Given the description of an element on the screen output the (x, y) to click on. 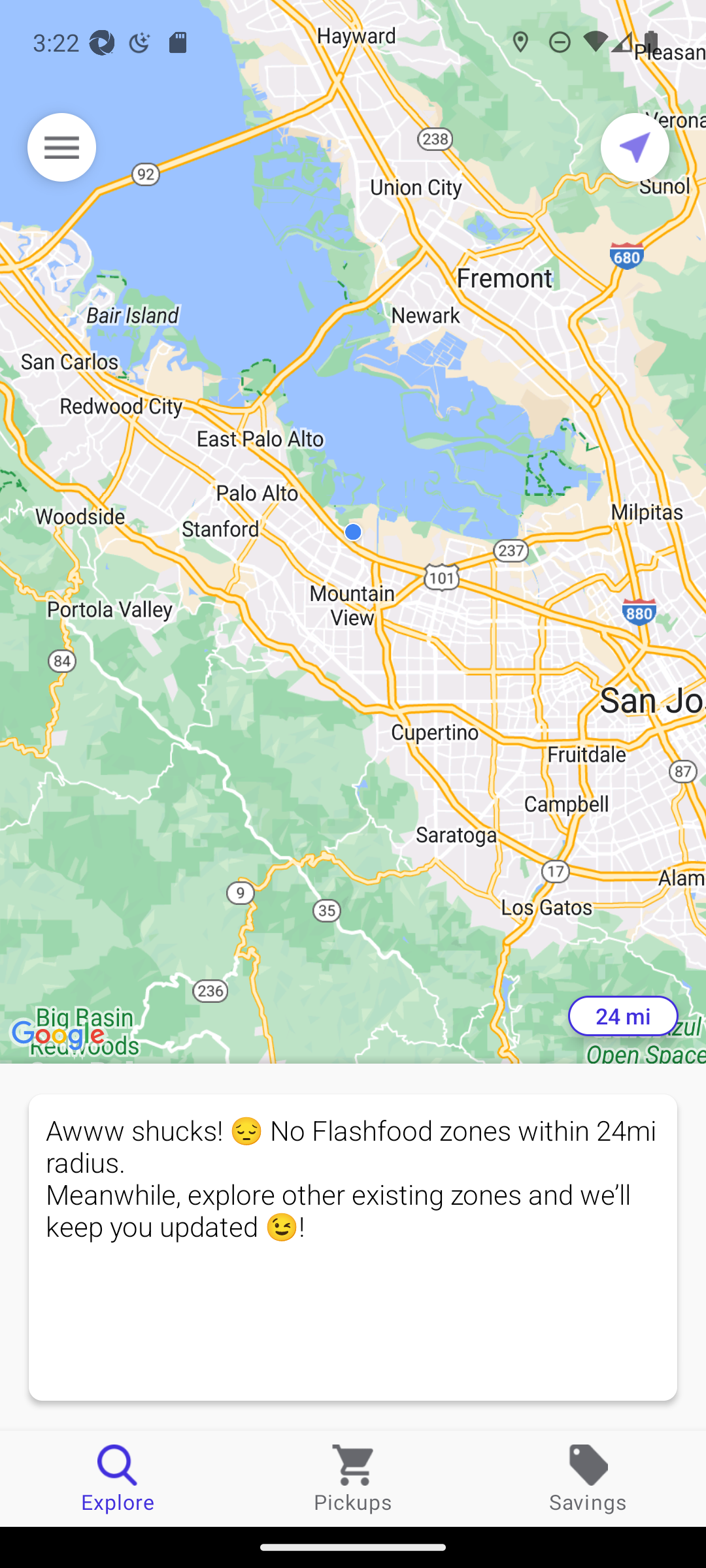
Menu (61, 146)
Current location (634, 146)
24 mi (623, 1015)
Pickups (352, 1478)
Savings (588, 1478)
